Given the description of an element on the screen output the (x, y) to click on. 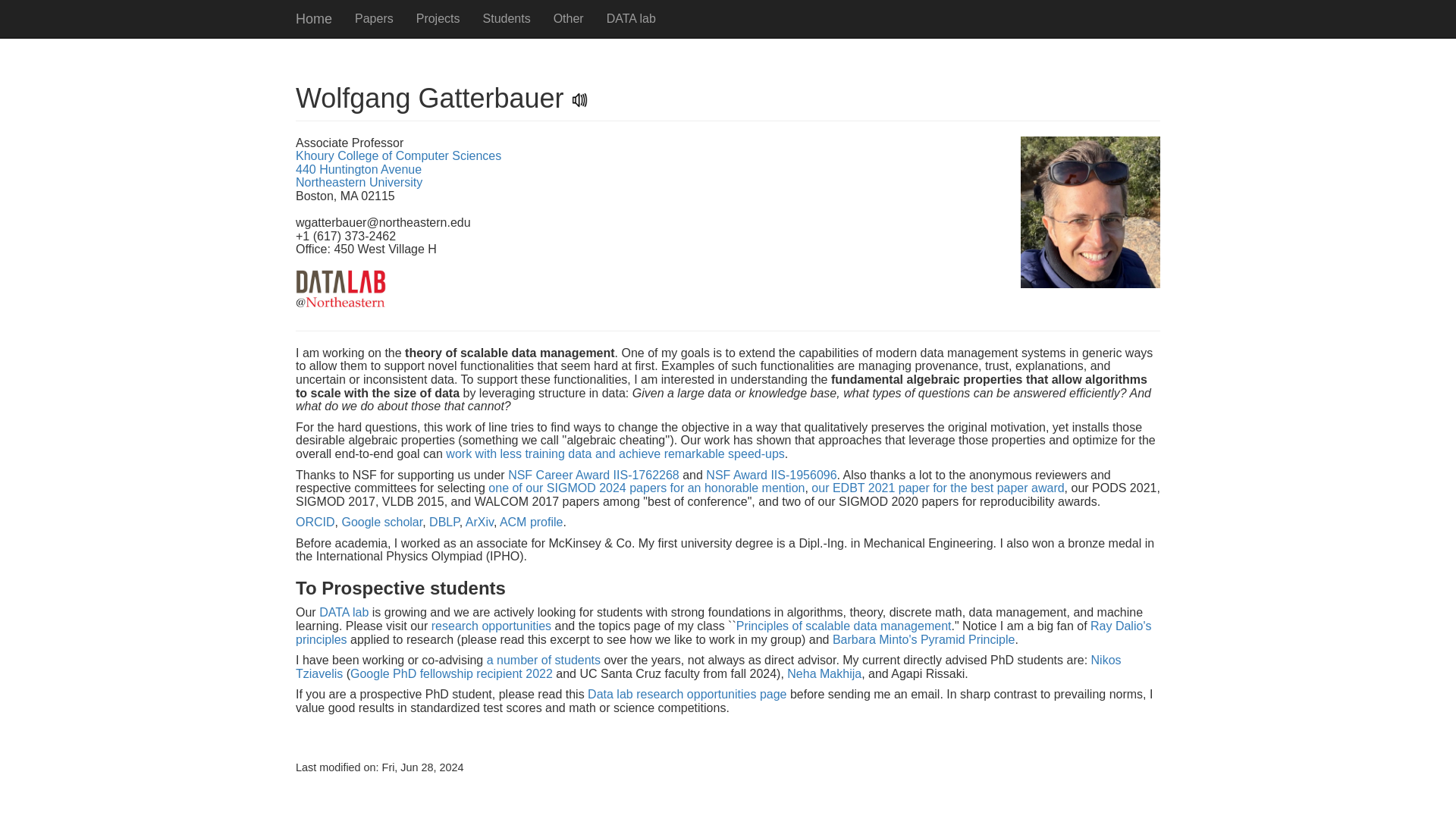
NSF Award IIS-1956096 (770, 474)
440 Huntington Avenue (358, 169)
a number of students (542, 659)
ArXiv (479, 521)
Principles of scalable data management (844, 625)
Data lab research opportunities page (687, 694)
Khoury College of Computer Sciences (397, 155)
Google PhD fellowship recipient 2022 (451, 673)
NSF Career Award IIS-1762268 (593, 474)
DBLP (444, 521)
Nikos Tziavelis (708, 666)
Projects (437, 18)
DATA lab (630, 18)
Neha Makhija (824, 673)
Barbara Minto's Pyramid Principle (923, 639)
